Given the description of an element on the screen output the (x, y) to click on. 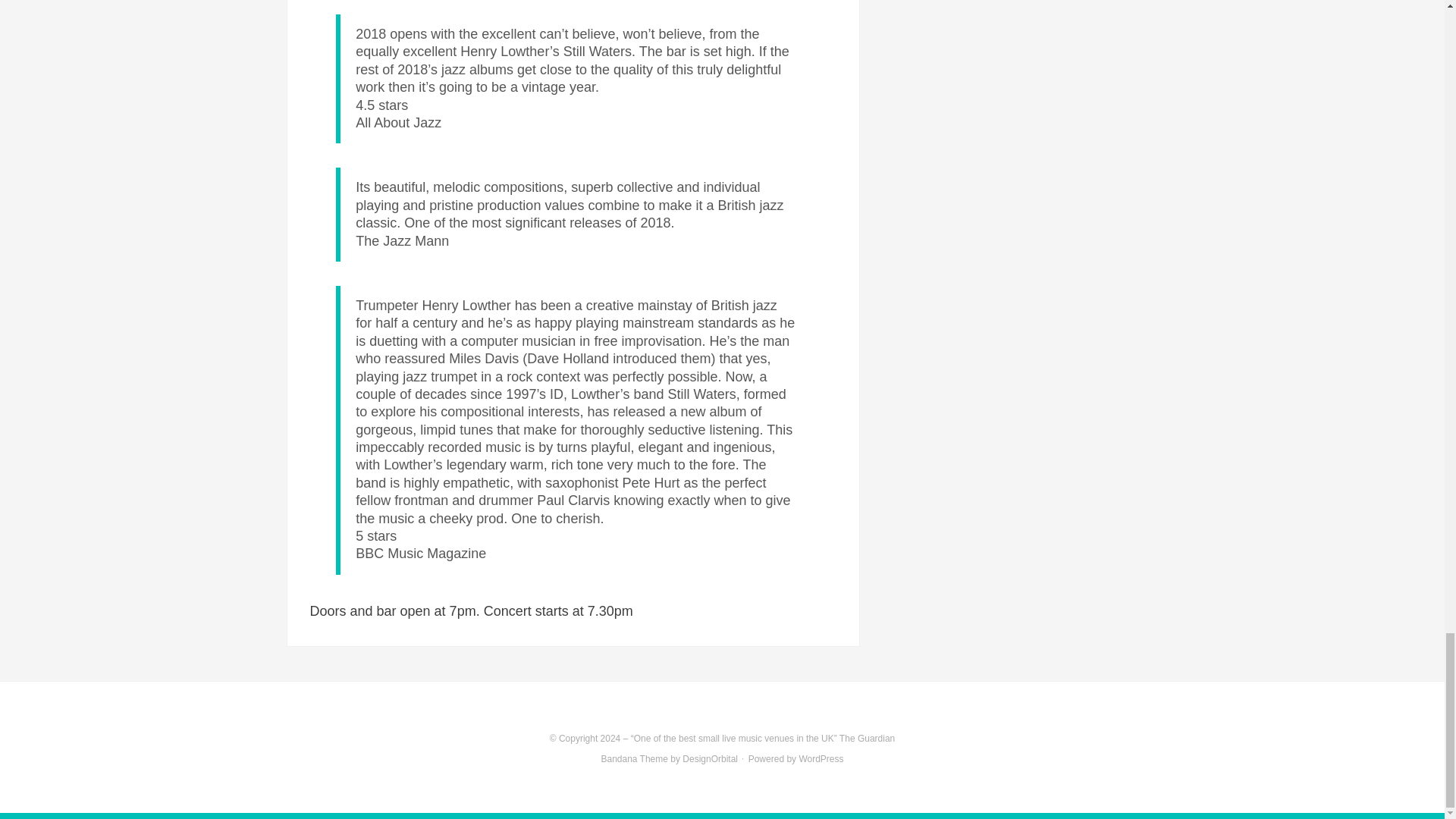
WordPress (820, 758)
WordPress (820, 758)
DesignOrbital (710, 758)
DesignOrbital (710, 758)
